Given the description of an element on the screen output the (x, y) to click on. 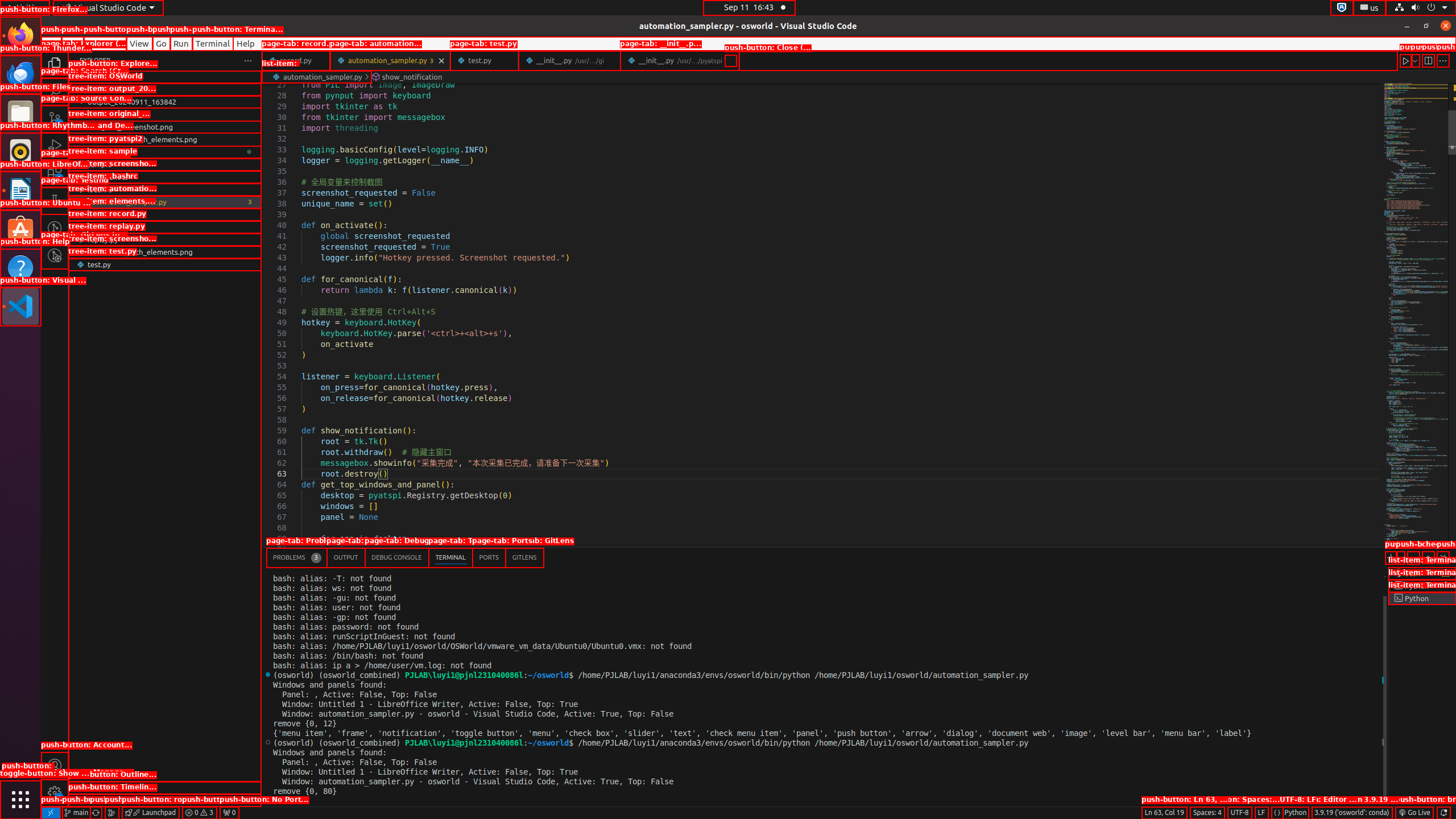
record.py Element type: tree-item (164, 226)
:1.21/StatusNotifierItem Element type: menu (1369, 7)
broadcast Go Live, Click to run live server Element type: push-button (1414, 812)
GitLens Inspect Element type: page-tab (54, 255)
